Given the description of an element on the screen output the (x, y) to click on. 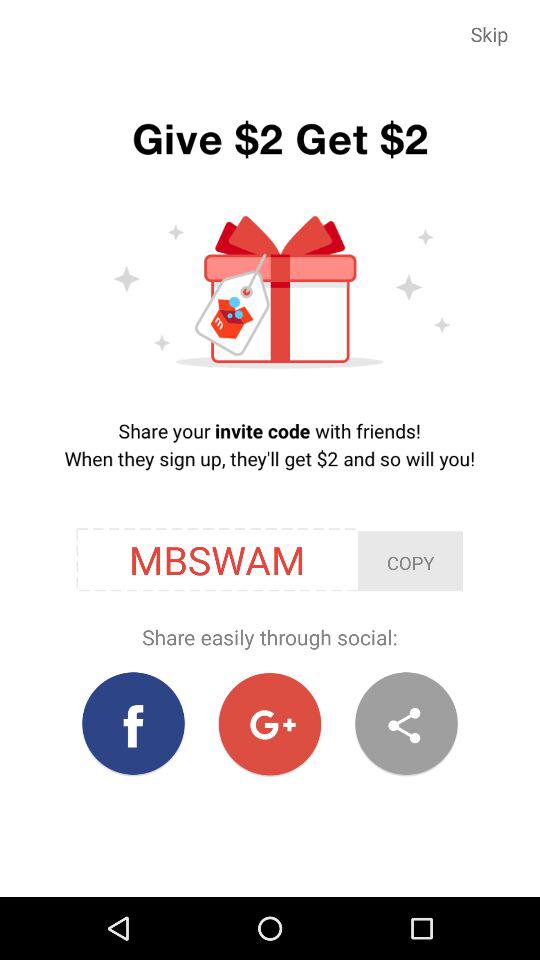
jump until copy icon (410, 561)
